Given the description of an element on the screen output the (x, y) to click on. 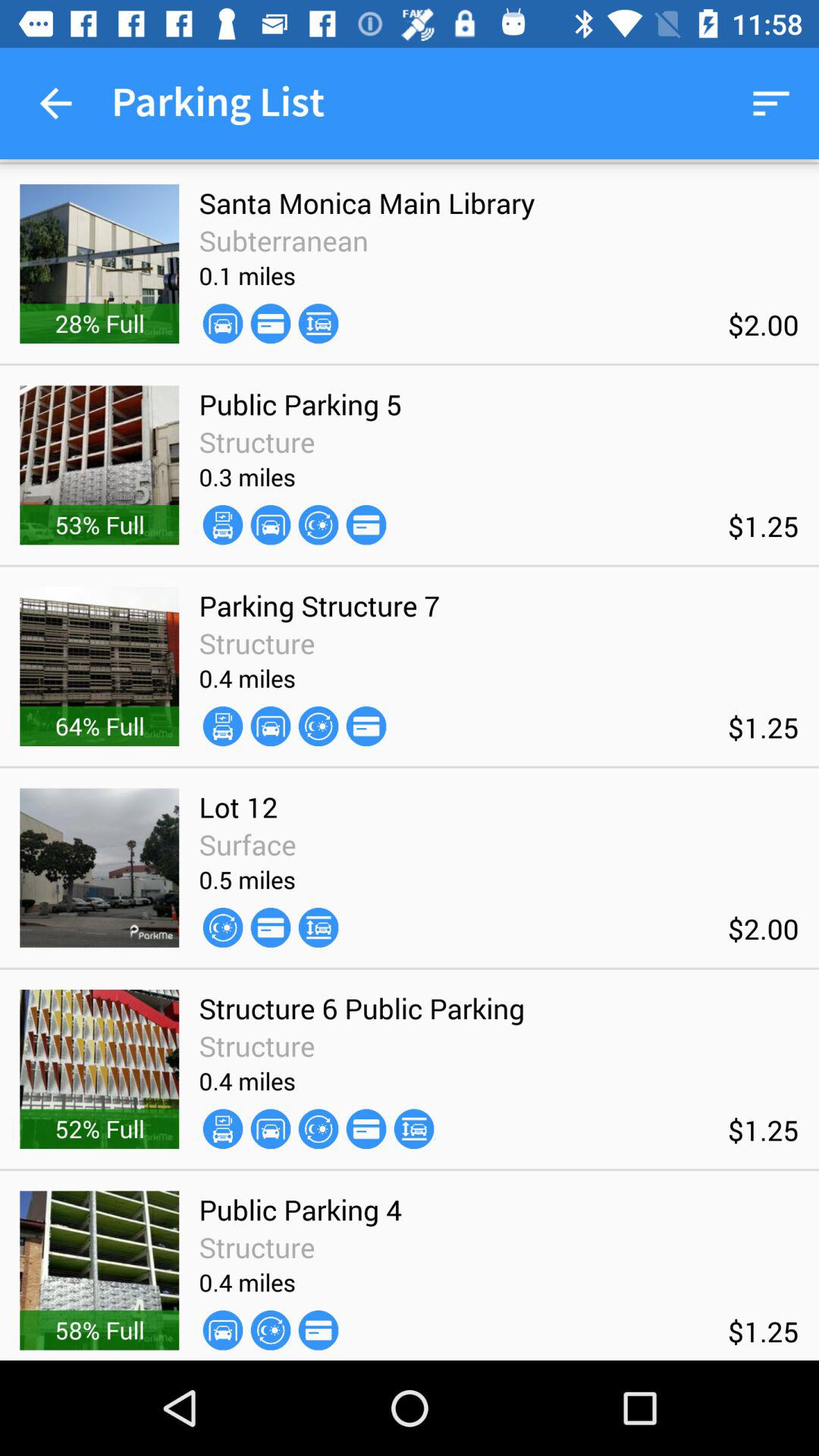
select the item below 0.5 miles icon (318, 927)
